Given the description of an element on the screen output the (x, y) to click on. 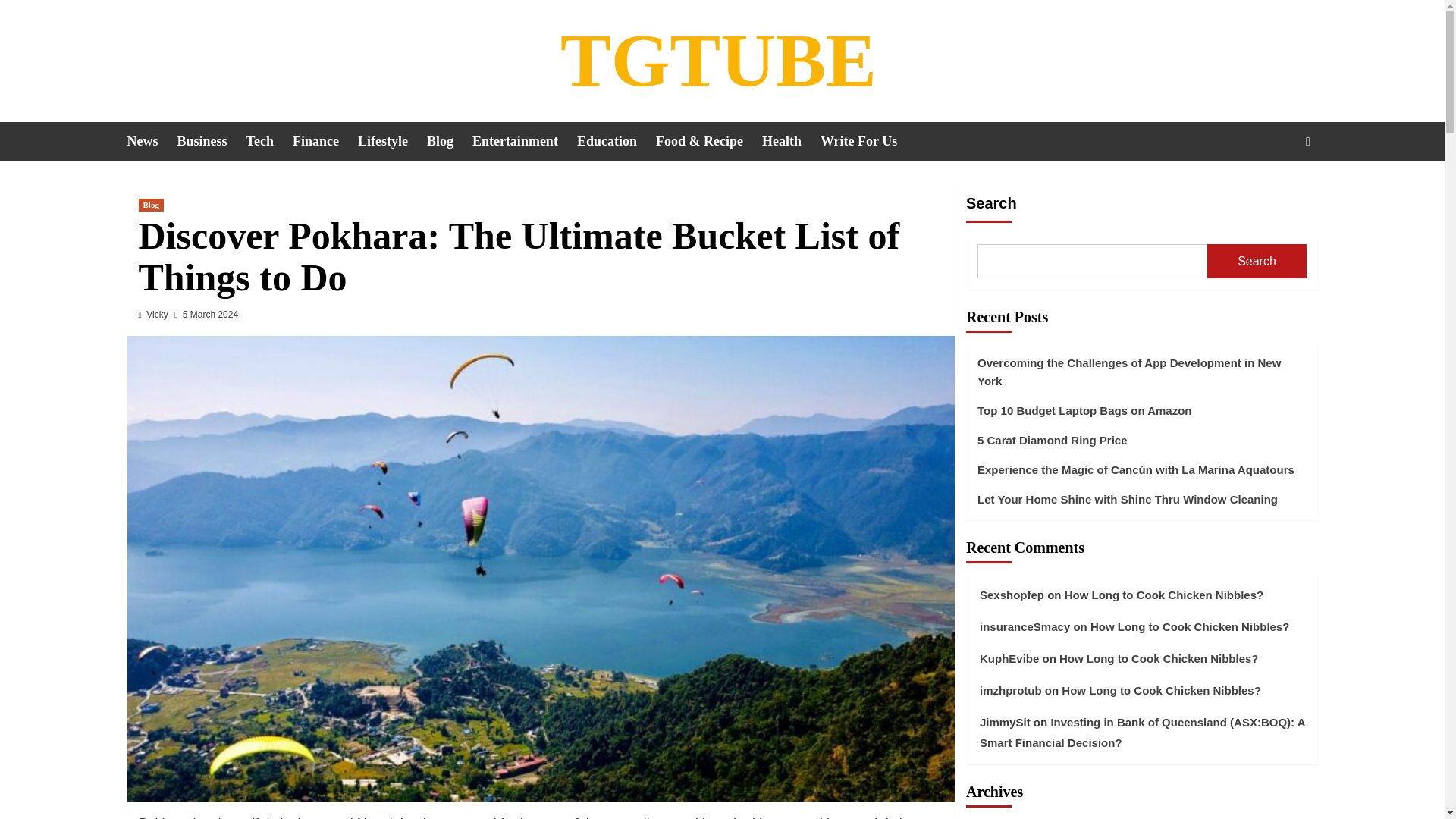
Education (616, 141)
Vicky (157, 314)
Search (1272, 188)
Health (791, 141)
TGTUBE (718, 60)
Business (211, 141)
Lifestyle (392, 141)
Tech (269, 141)
Finance (325, 141)
5 March 2024 (210, 314)
